Given the description of an element on the screen output the (x, y) to click on. 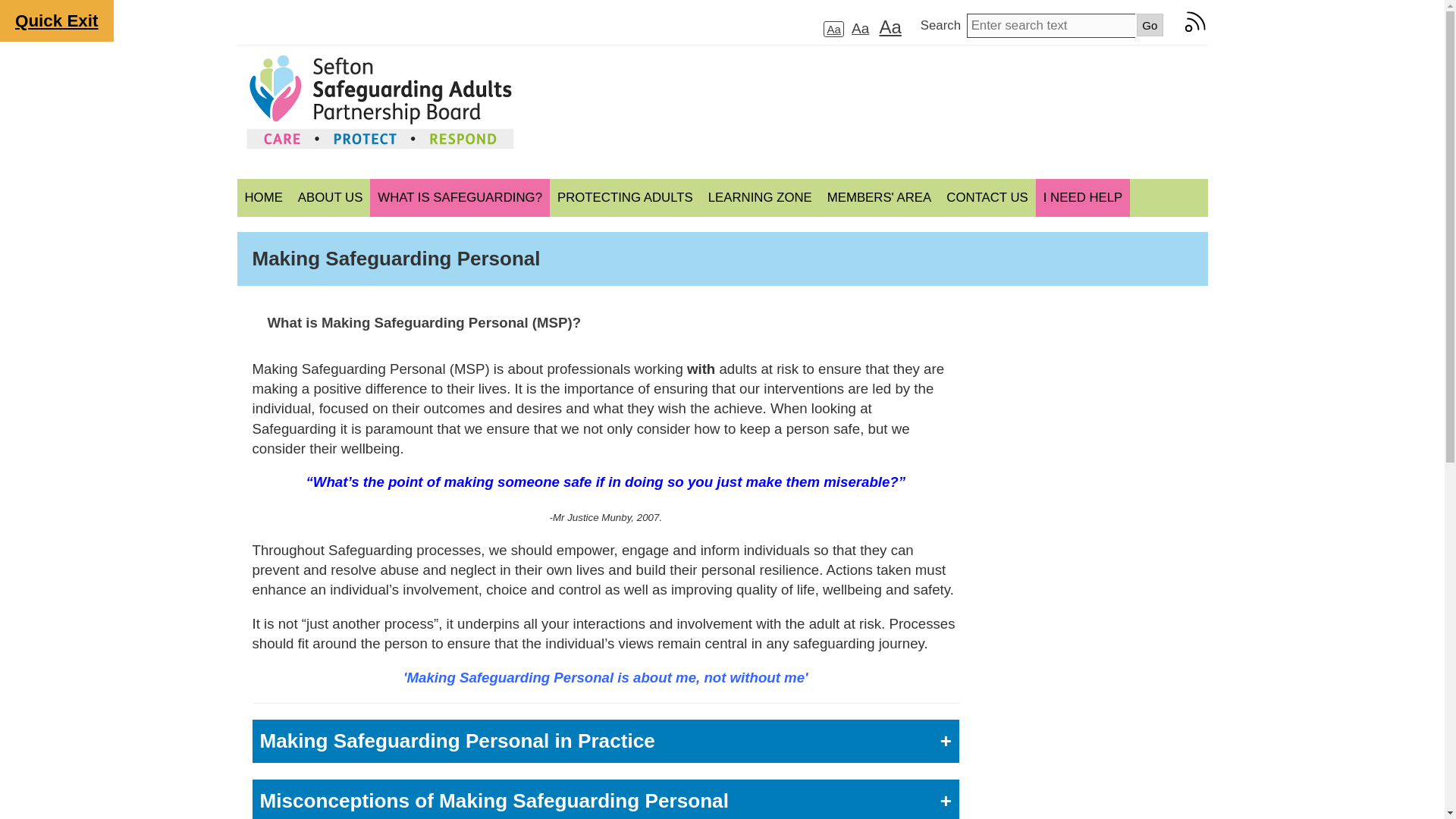
MEMBERS' AREA (879, 198)
I NEED HELP (1082, 198)
Make the text size large (889, 26)
HOME (262, 198)
Make the text size medium (859, 27)
Go (1149, 24)
LEARNING ZONE (759, 198)
Quick Exit (56, 20)
Hide this page - This will take you to the google website (56, 20)
PROTECTING ADULTS (625, 198)
Aa (859, 27)
Aa (889, 26)
Go (1149, 24)
Aa (833, 28)
Make the text size small (833, 28)
